Given the description of an element on the screen output the (x, y) to click on. 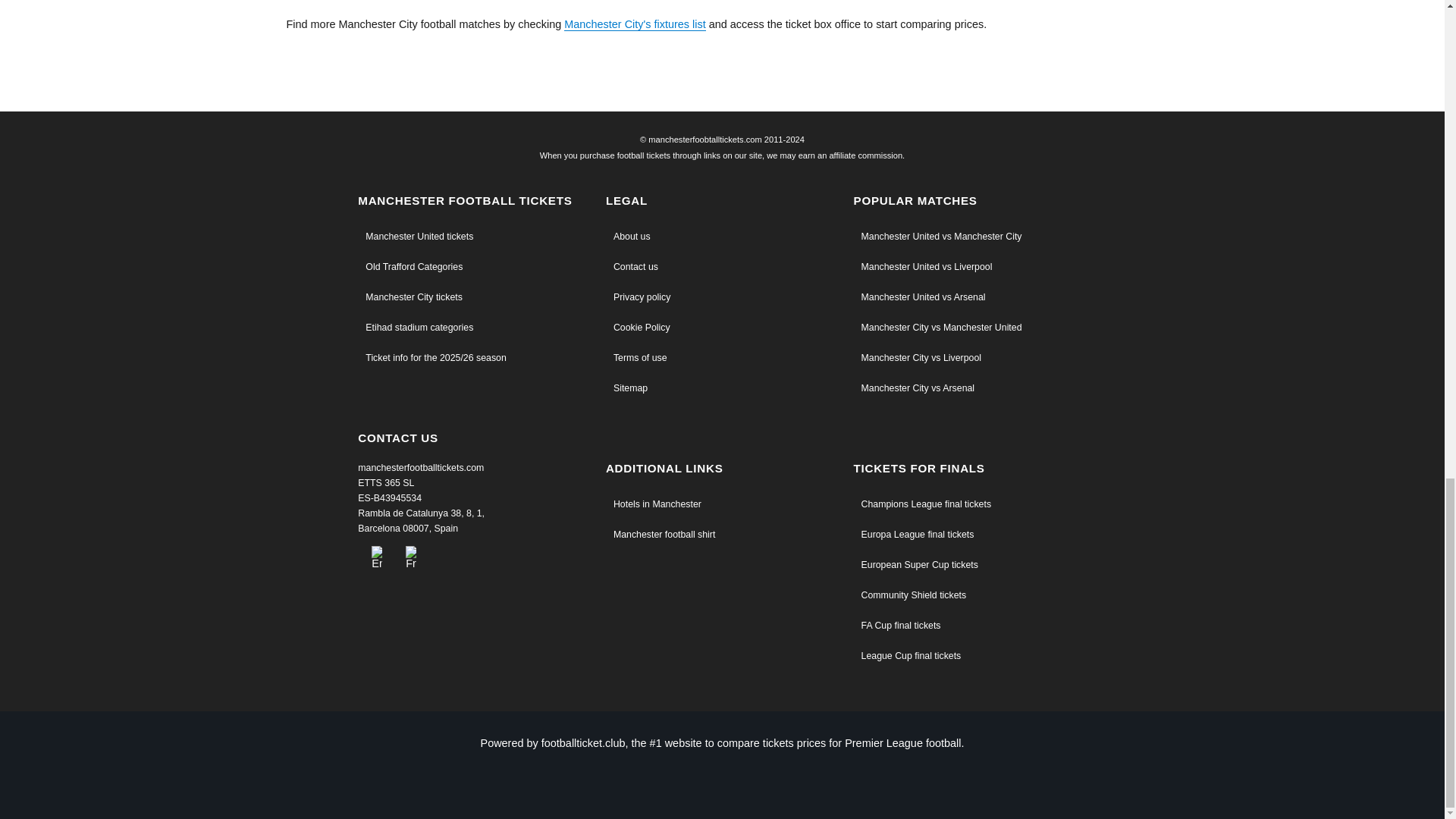
Terms of use (721, 359)
Etihad stadium categories (474, 329)
Sitemap (721, 390)
Manchester United vs Arsenal (969, 299)
League Cup final tickets (969, 657)
Community Shield tickets (969, 597)
Manchester City vs Liverpool (969, 359)
Cookie Policy (721, 329)
Manchester United tickets (474, 238)
Manchester football shirt (721, 536)
